Given the description of an element on the screen output the (x, y) to click on. 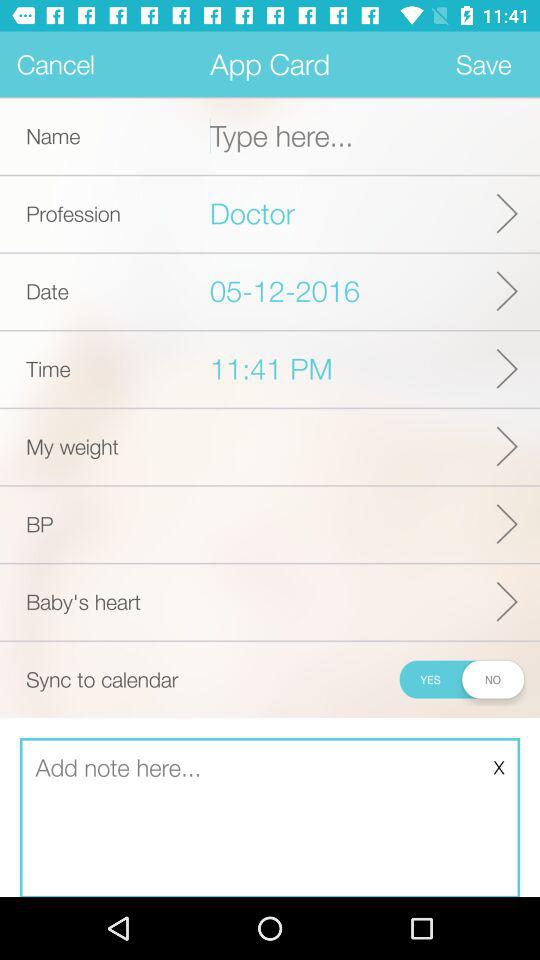
enter a name (375, 135)
